Given the description of an element on the screen output the (x, y) to click on. 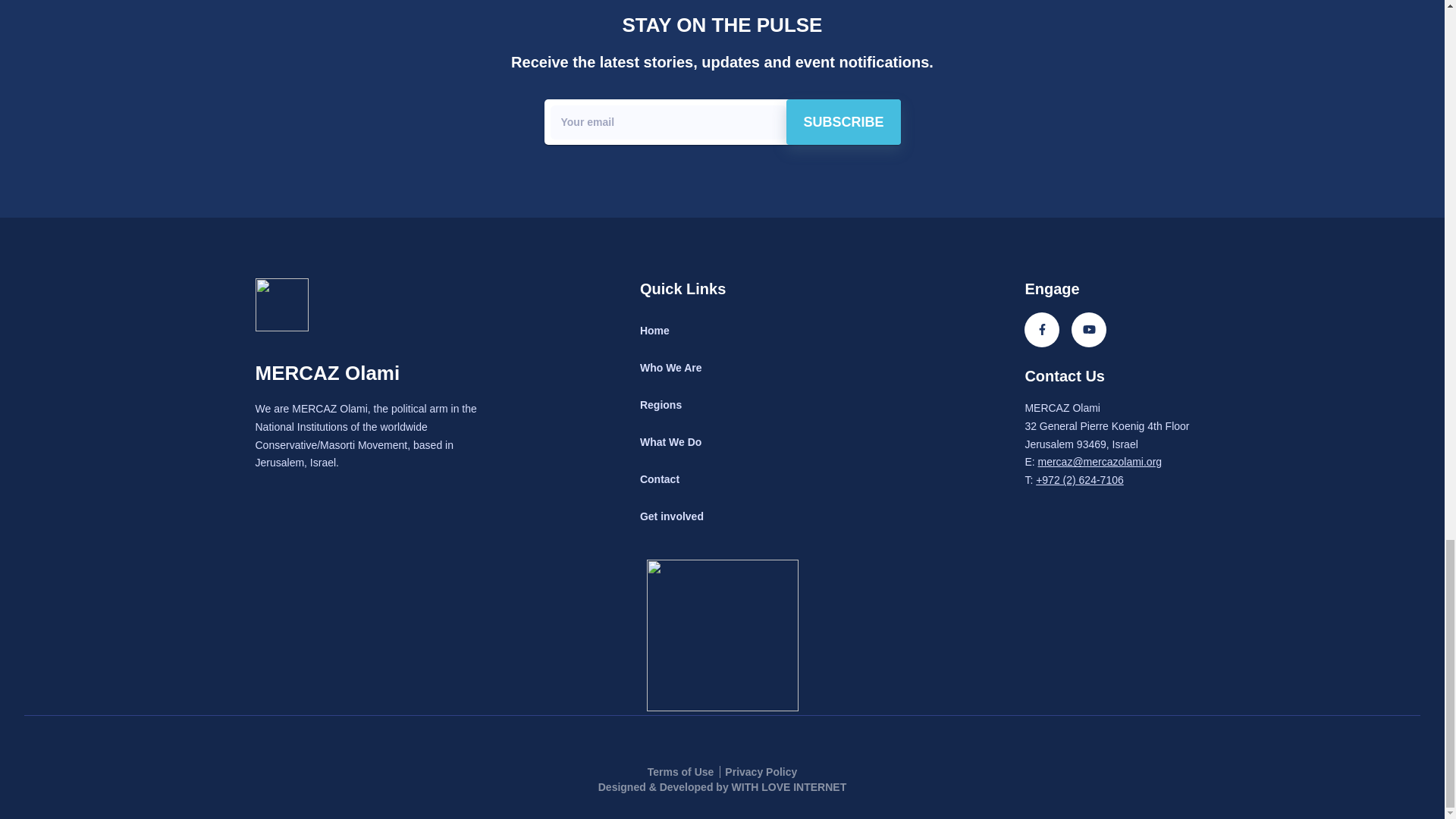
Privacy Policy (760, 771)
Regions (660, 404)
Get involved (671, 516)
SUBSCRIBE (842, 121)
Terms of Use (683, 771)
What We Do (670, 441)
Who We Are (670, 367)
Contact (659, 479)
Home (654, 330)
